Given the description of an element on the screen output the (x, y) to click on. 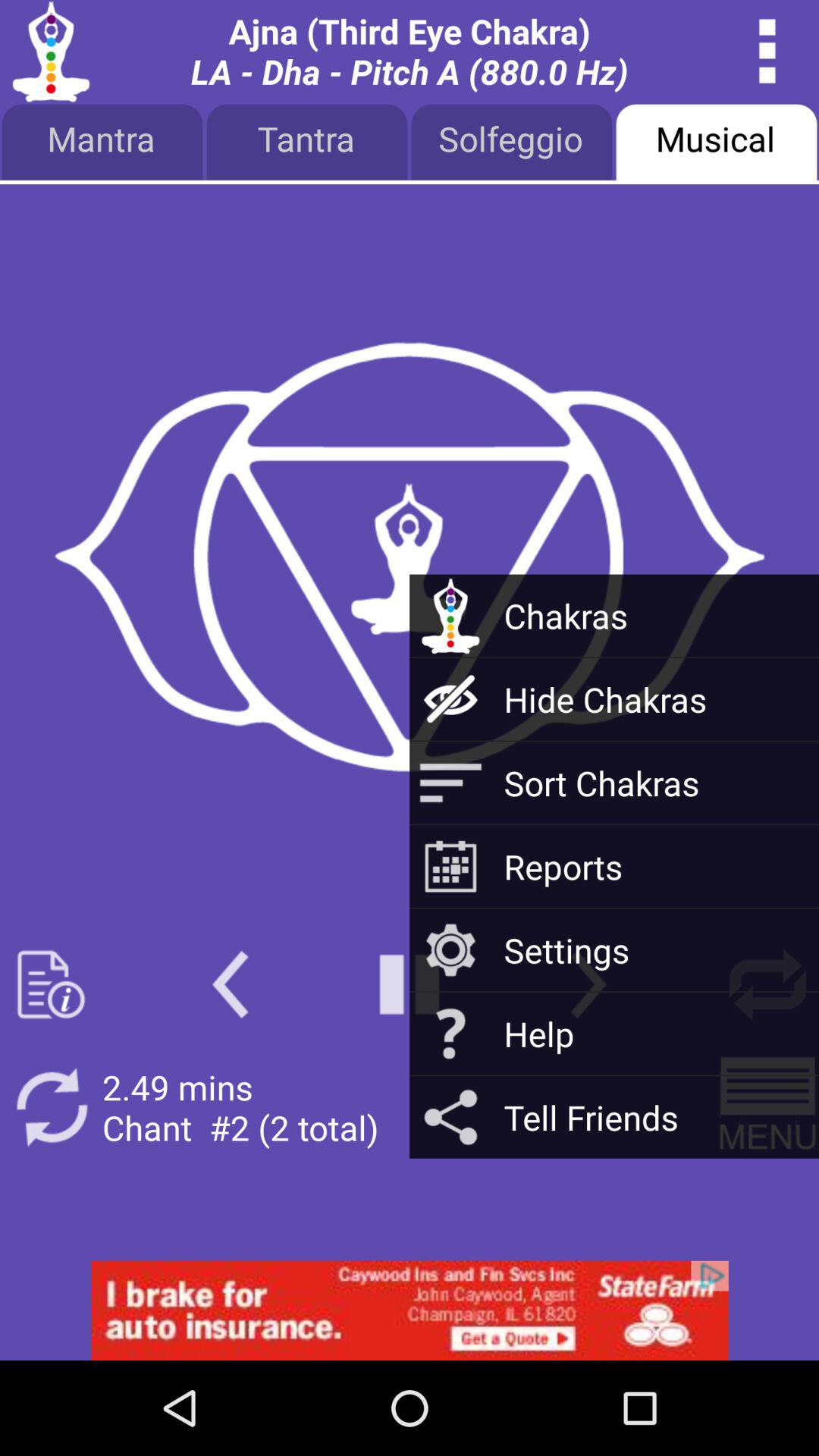
refresh button (51, 1107)
